Given the description of an element on the screen output the (x, y) to click on. 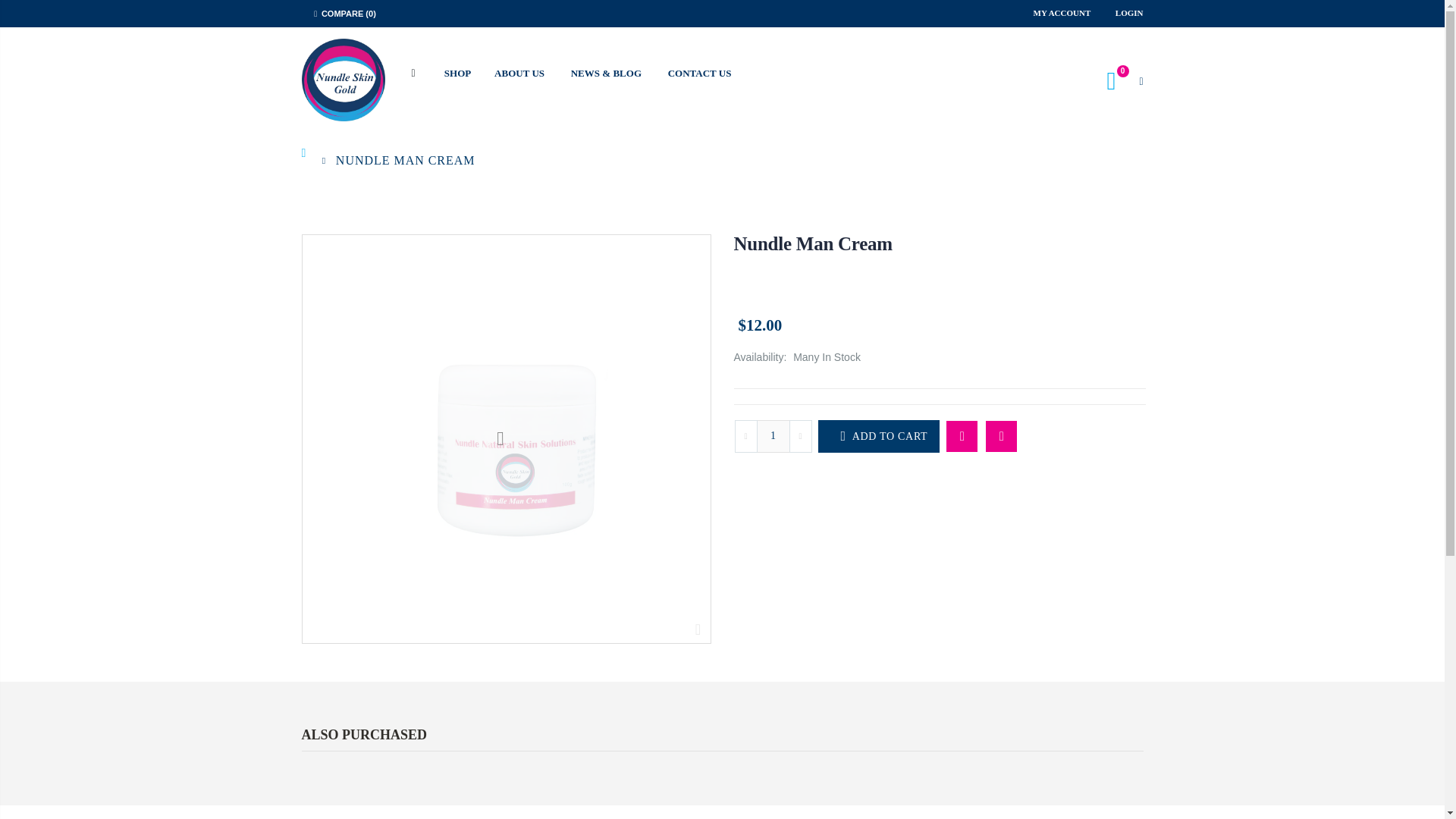
Add to compare (1001, 436)
LOGIN (1128, 12)
MY ACCOUNT (1063, 12)
ADD TO CART (877, 436)
Add to wishlist (961, 436)
ABOUT US (524, 73)
SHOP (461, 73)
0 (1117, 80)
1 (773, 436)
CONTACT US (703, 73)
Nundle Man Cream (812, 243)
